Given the description of an element on the screen output the (x, y) to click on. 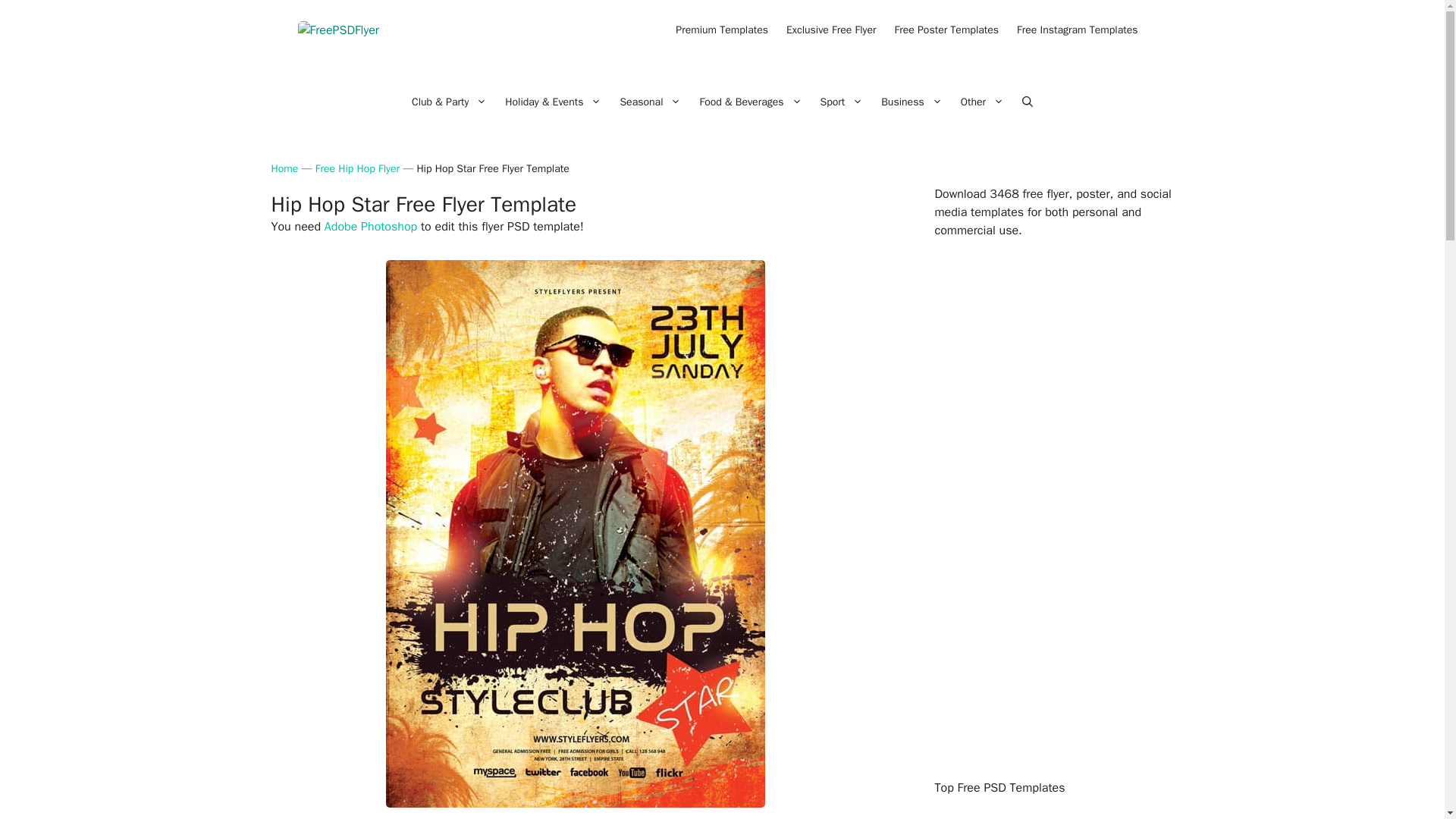
Free Poster Templates (947, 30)
Free Business Flyer PSD Templates (911, 102)
Free Instagram Templates (1077, 30)
Free Seasonal Event Flyer PSD Templates (650, 102)
Premium Templates (721, 30)
Free Sports Flyer PSD Templates (841, 102)
Exclusive Free Flyer (831, 30)
Miscellaneous Free PSD Flyer Categories (982, 102)
